Given the description of an element on the screen output the (x, y) to click on. 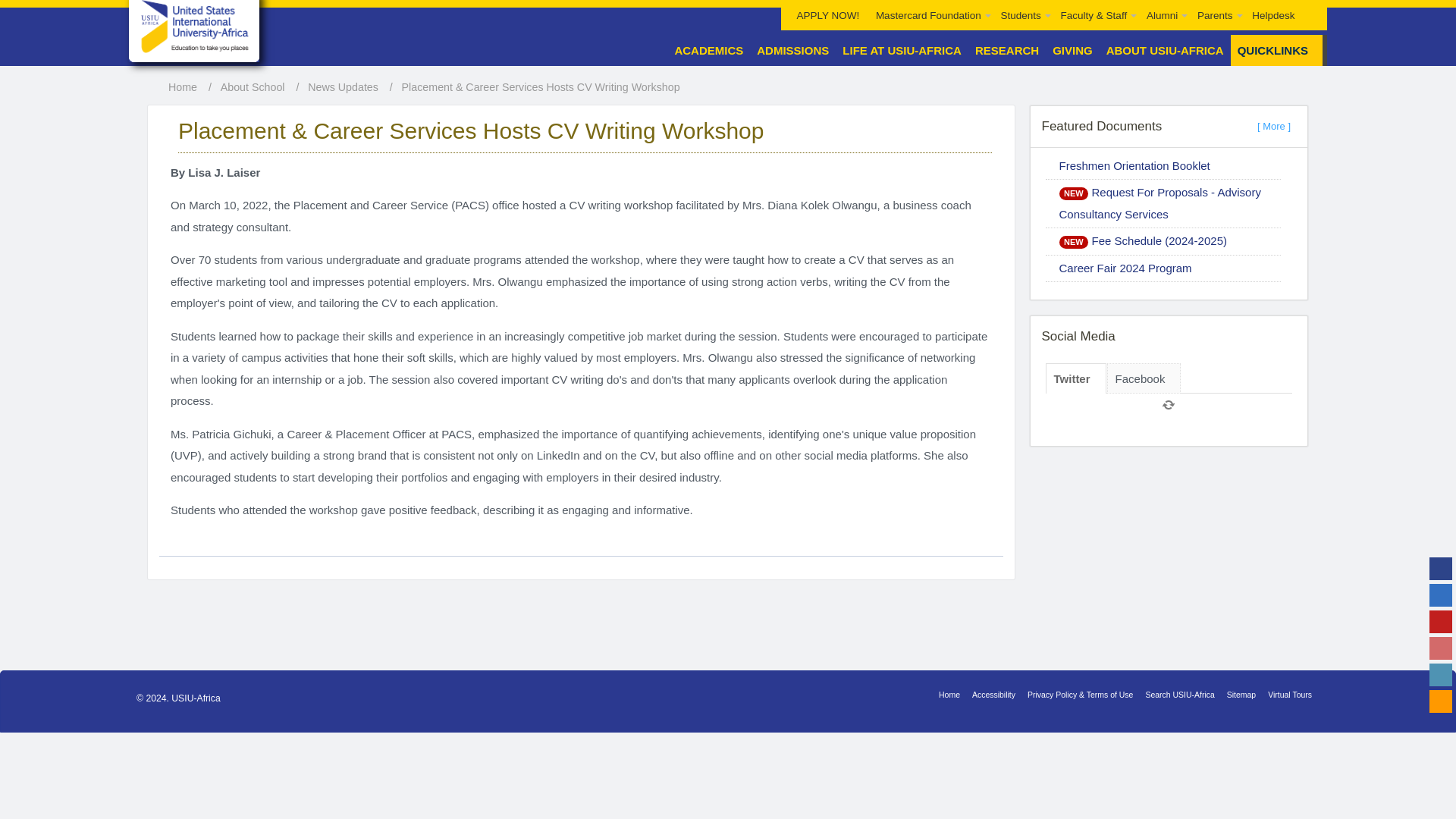
APPLY NOW! (828, 15)
Instagram (1440, 648)
X (1440, 594)
Students (1022, 15)
Mastercard Foundation (929, 15)
YouTube (1440, 621)
Search (1311, 5)
Talk to us (1440, 701)
LinkedIn (1440, 674)
Facebook (1440, 568)
